Given the description of an element on the screen output the (x, y) to click on. 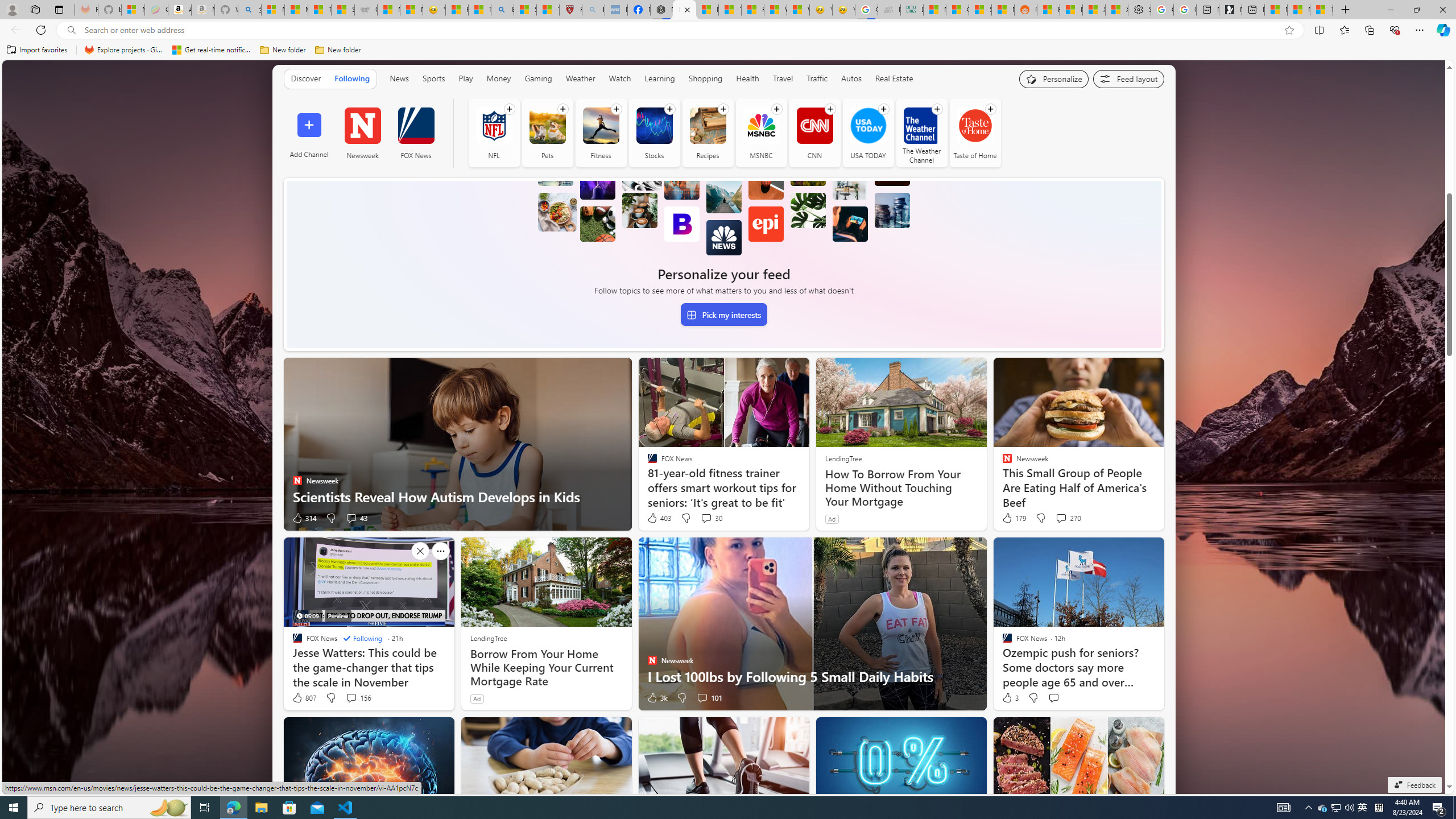
Pets (547, 133)
Bing (502, 9)
